Given the description of an element on the screen output the (x, y) to click on. 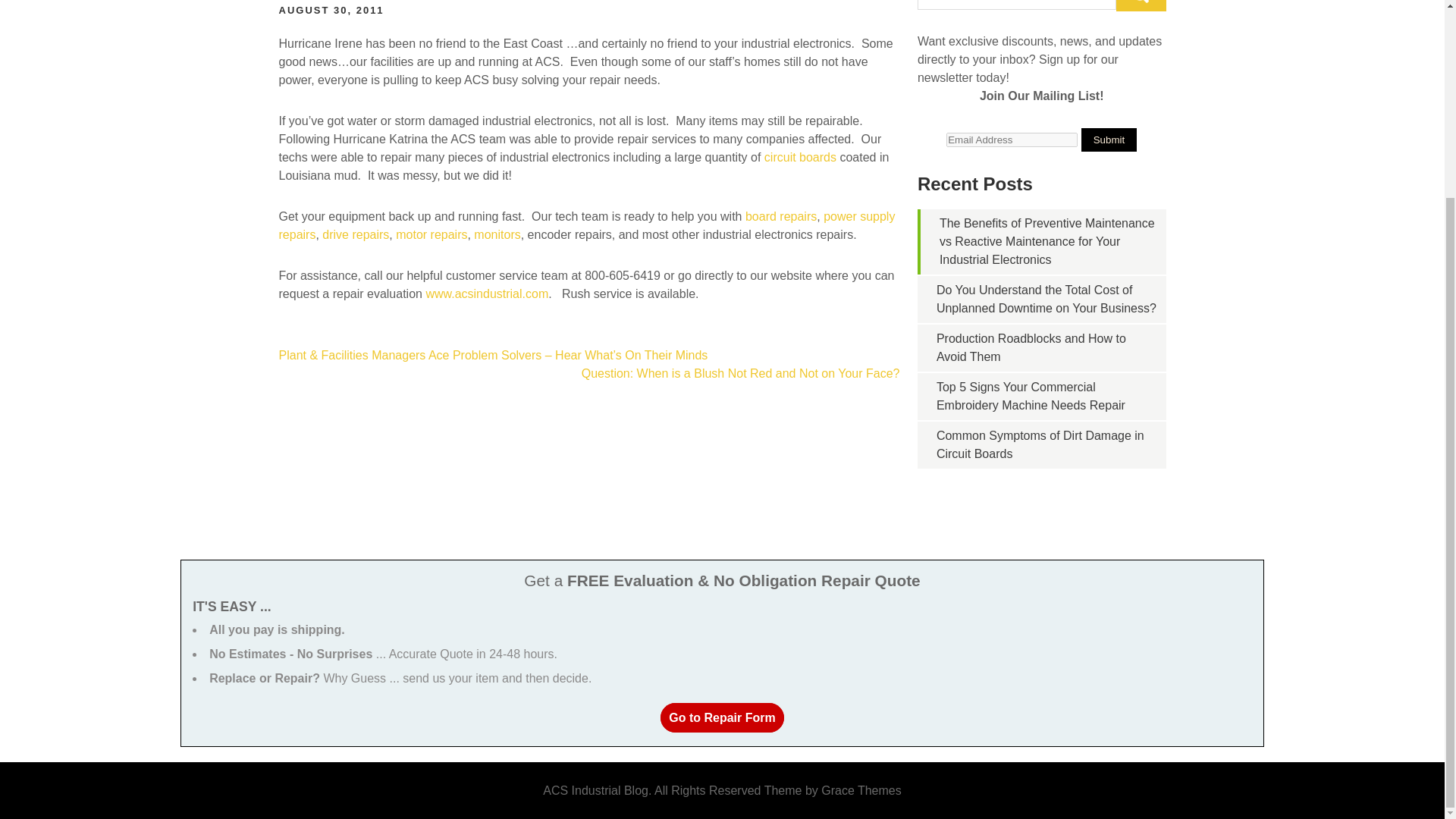
Submit (1109, 139)
Search (1141, 5)
drive repairs (354, 234)
Go to Repair Form (722, 717)
motor repairs (431, 234)
Production Roadblocks and How to Avoid Them (1030, 347)
Get Storm Damaged Servo Drives Repaired (354, 234)
board repairs (780, 215)
circuit boards (802, 156)
